Given the description of an element on the screen output the (x, y) to click on. 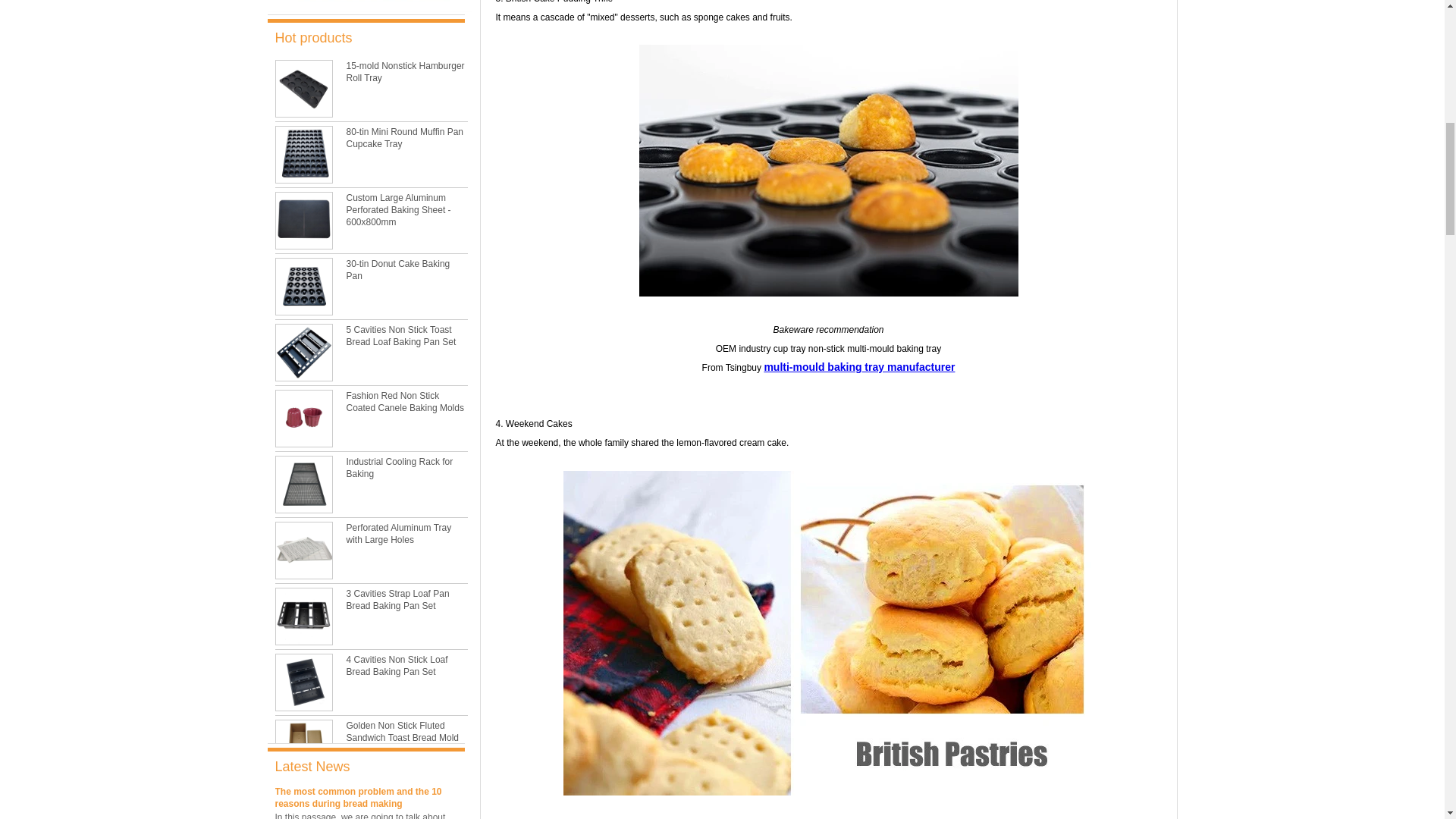
China 15-mold Nonstick Hamburger Roll Tray manufacturer (405, 71)
China 15-mold Nonstick Hamburger Roll Tray manufacturer (303, 88)
China 80-tin Mini Round Muffin Pan Cupcake Tray manufacturer (303, 154)
Click to consult immediately (368, 9)
China 80-tin Mini Round Muffin Pan Cupcake Tray manufacturer (404, 137)
